Given the description of an element on the screen output the (x, y) to click on. 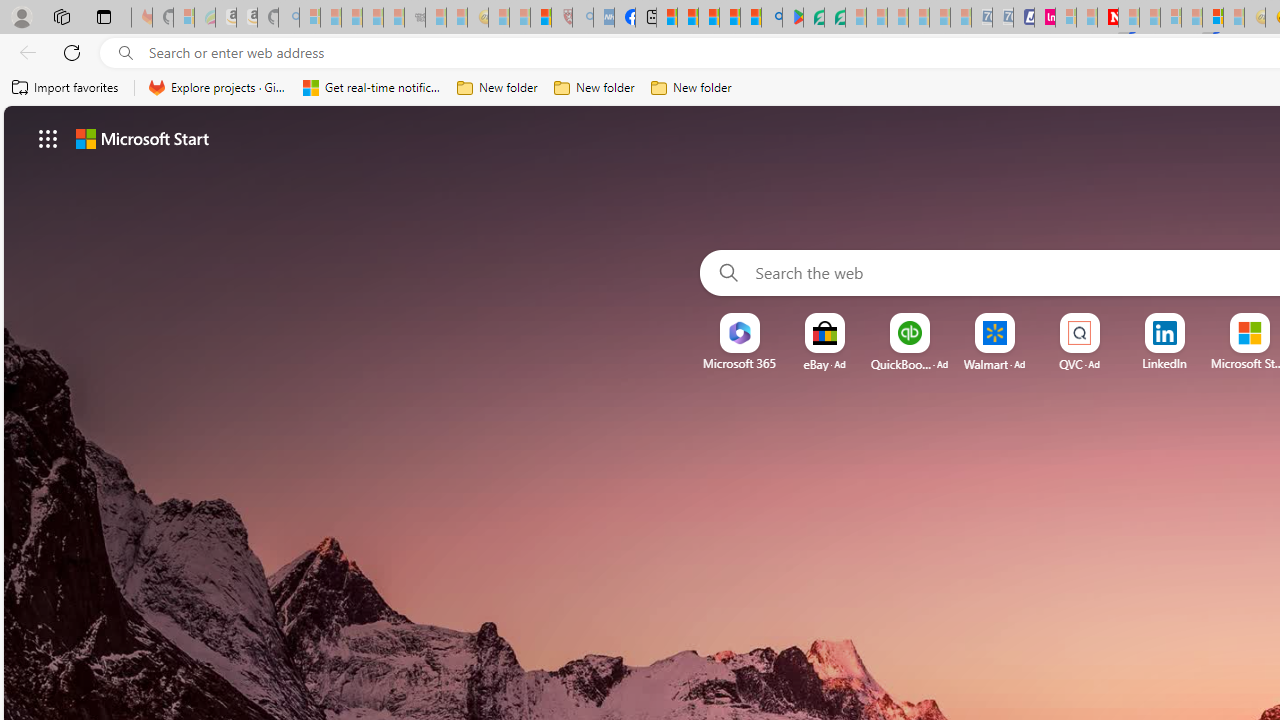
Terms of Use Agreement (813, 17)
New Report Confirms 2023 Was Record Hot | Watch - Sleeping (394, 17)
14 Common Myths Debunked By Scientific Facts - Sleeping (1149, 17)
Pets - MSN (729, 17)
Jobs - lastminute.com Investor Portal (1044, 17)
App launcher (47, 138)
